Given the description of an element on the screen output the (x, y) to click on. 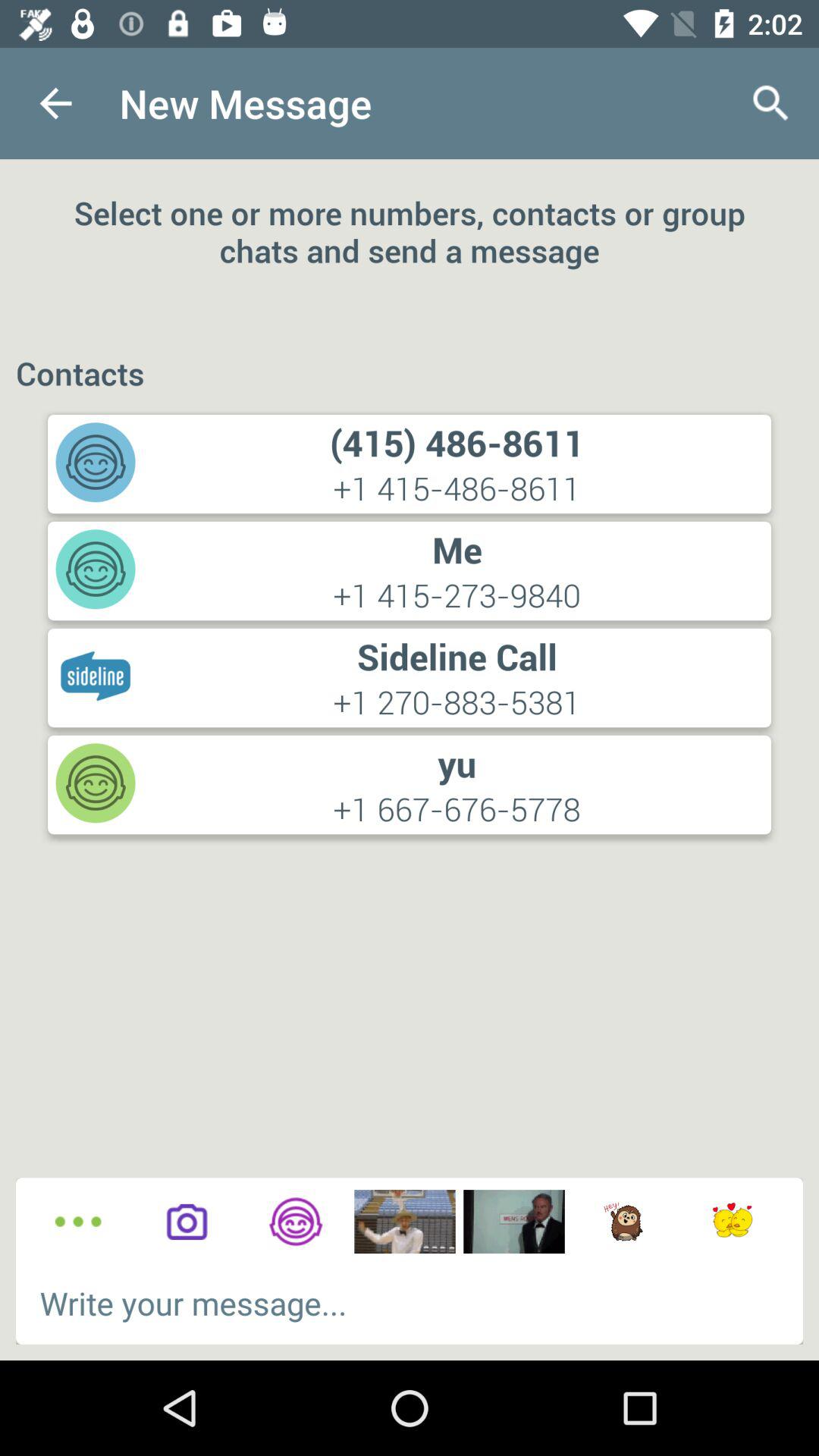
choose app next to new message app (55, 103)
